Given the description of an element on the screen output the (x, y) to click on. 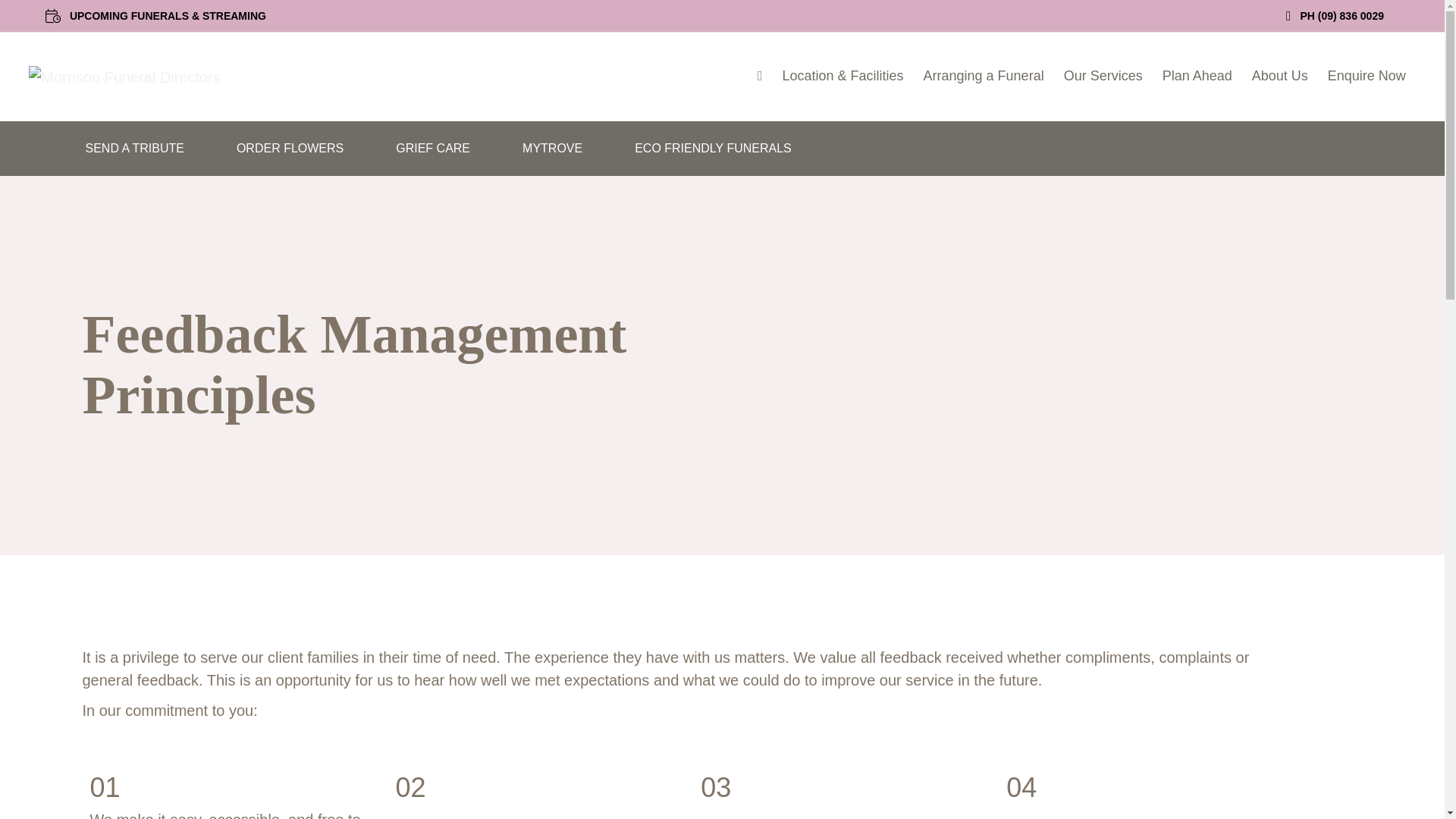
MYTROVE (552, 148)
Plan Ahead (1197, 76)
Arranging a Funeral (984, 76)
ORDER FLOWERS (290, 148)
Enquire Now (1366, 76)
GRIEF CARE (432, 148)
SEND A TRIBUTE (134, 148)
About Us (1279, 76)
ECO FRIENDLY FUNERALS (712, 148)
Our Services (1103, 76)
